Given the description of an element on the screen output the (x, y) to click on. 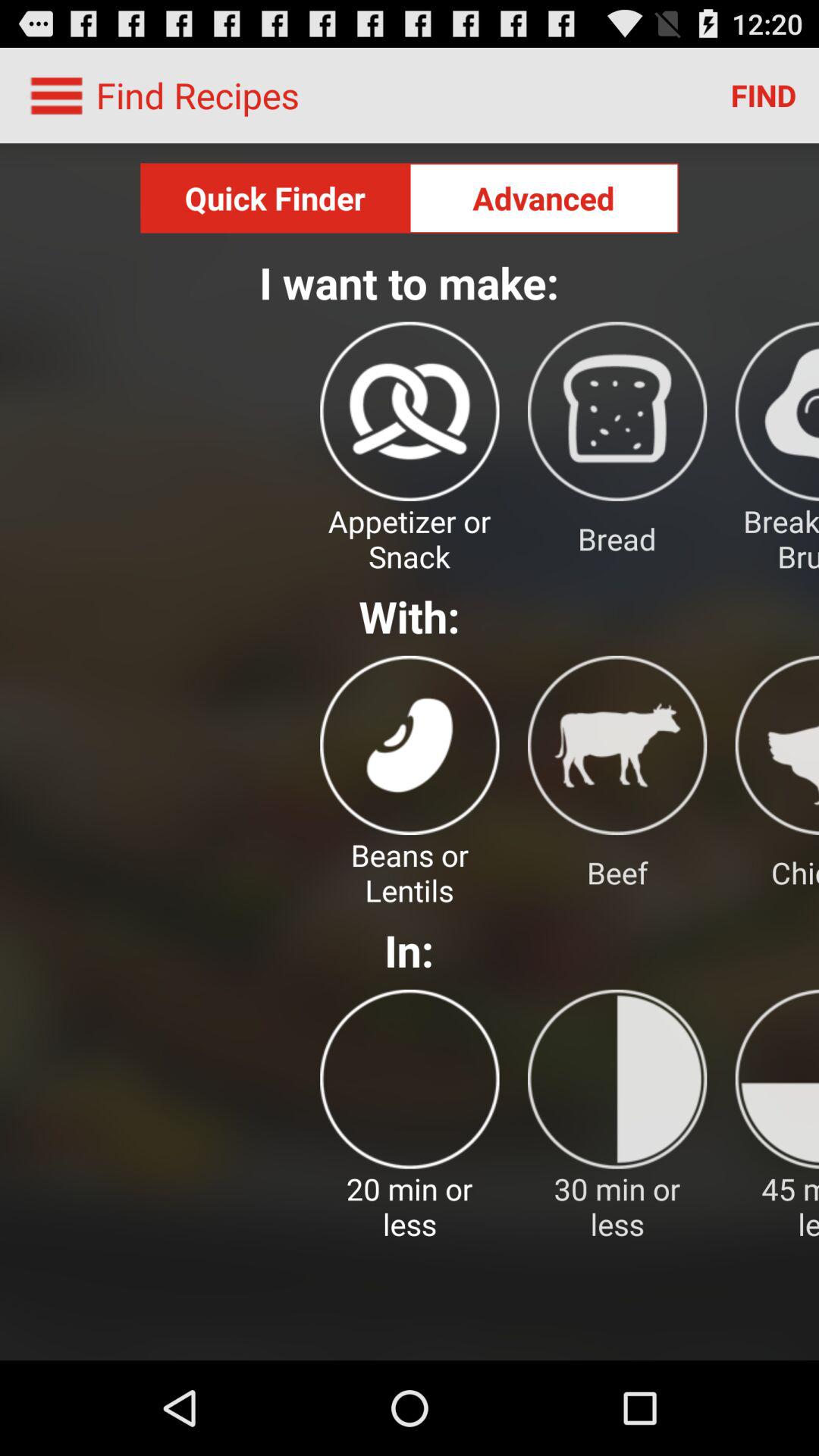
turn off item above i want to item (543, 198)
